Given the description of an element on the screen output the (x, y) to click on. 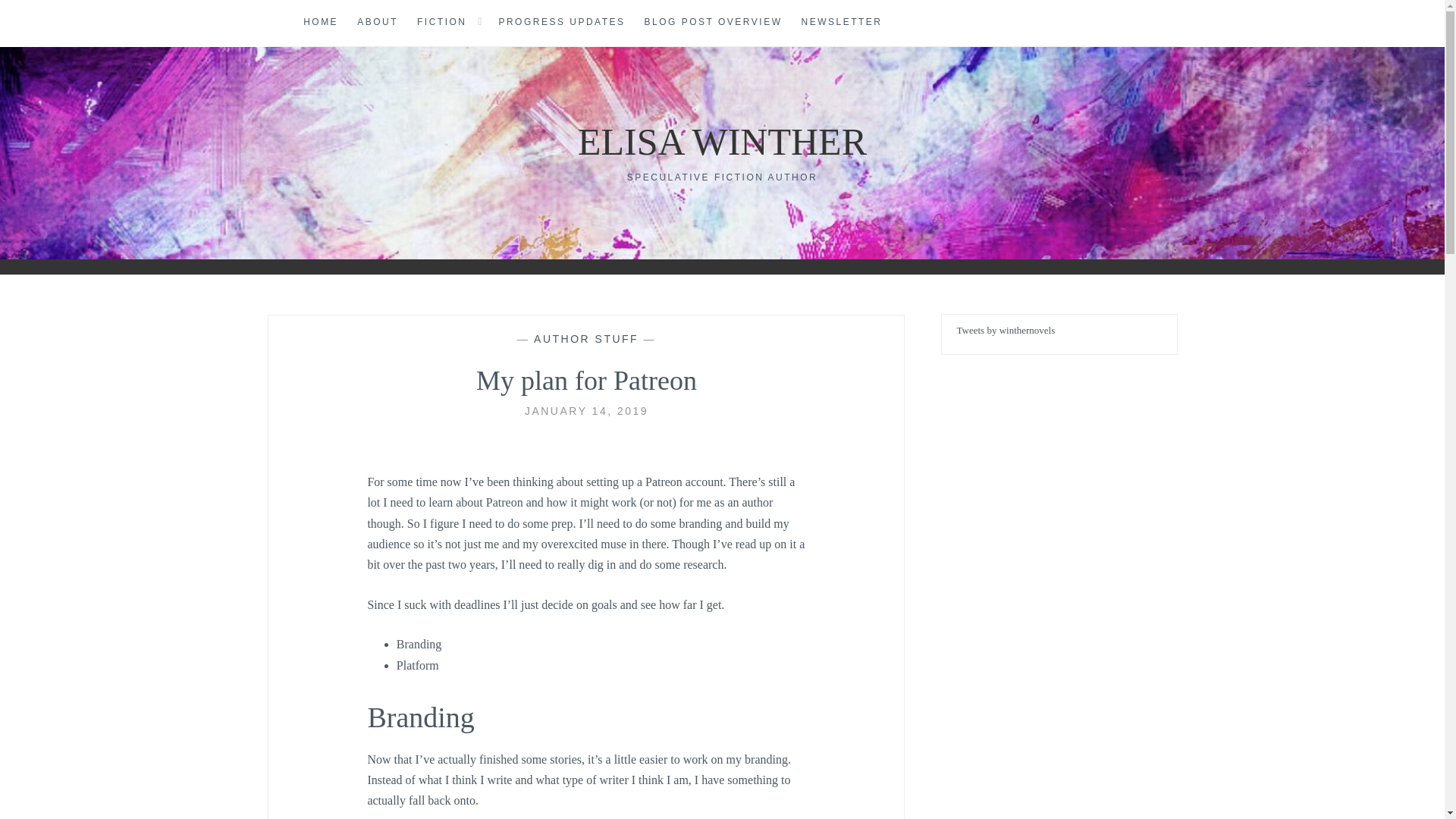
BLOG POST OVERVIEW (714, 22)
PROGRESS UPDATES (560, 22)
NEWSLETTER (842, 22)
HOME (319, 22)
AUTHOR STUFF (586, 338)
ABOUT (376, 22)
ELISA WINTHER (722, 141)
Tweets by winthernovels (1005, 330)
FICTION (441, 22)
